Given the description of an element on the screen output the (x, y) to click on. 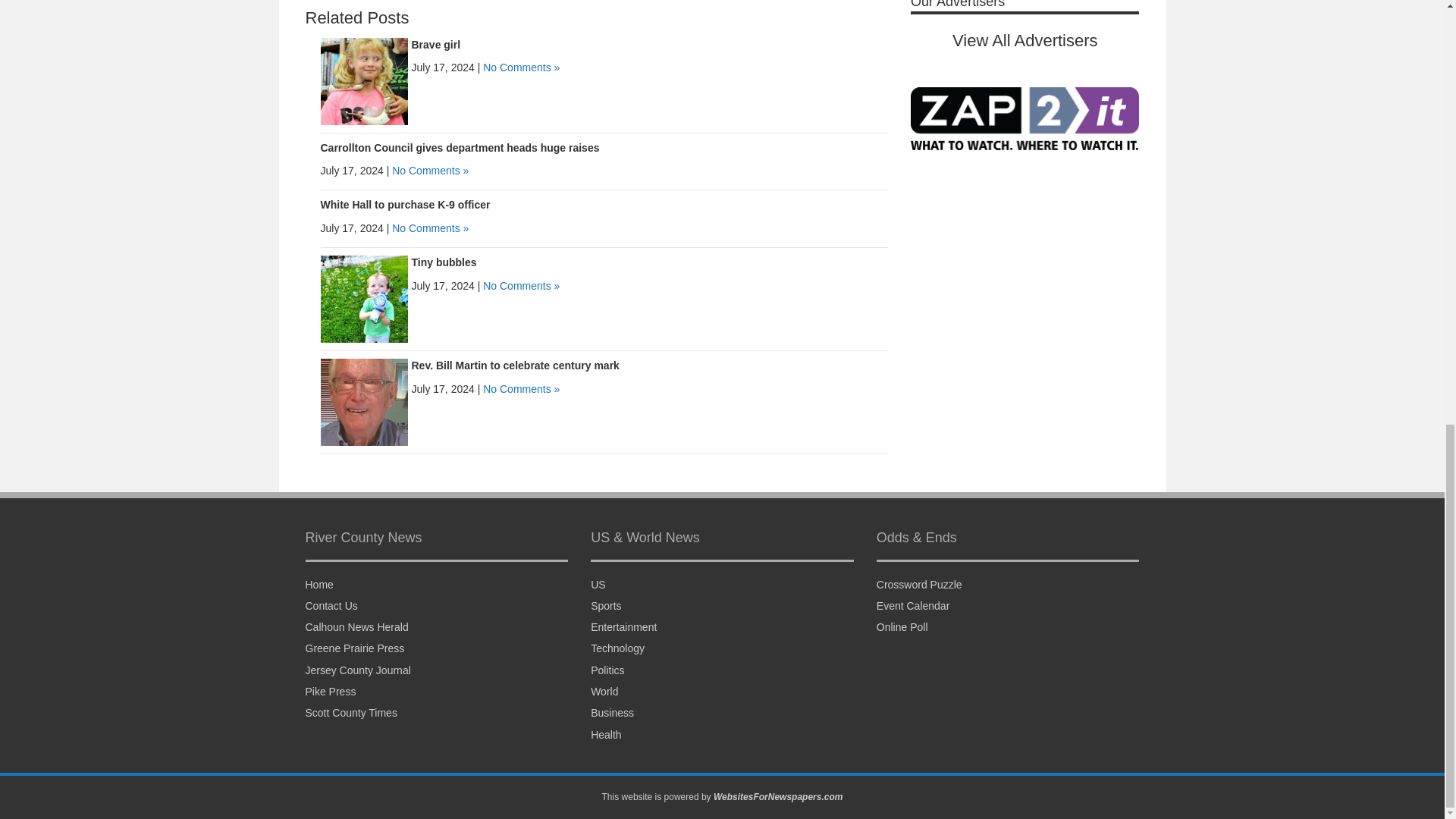
White Hall to purchase K-9 officer (404, 204)
Carrollton Council gives department heads huge raises (459, 147)
Tiny bubbles (363, 298)
Rev. Bill Martin to celebrate century mark (514, 365)
Tiny bubbles (443, 262)
Brave girl (363, 80)
Brave girl (435, 44)
Rev. Bill Martin to celebrate century mark (363, 401)
